Given the description of an element on the screen output the (x, y) to click on. 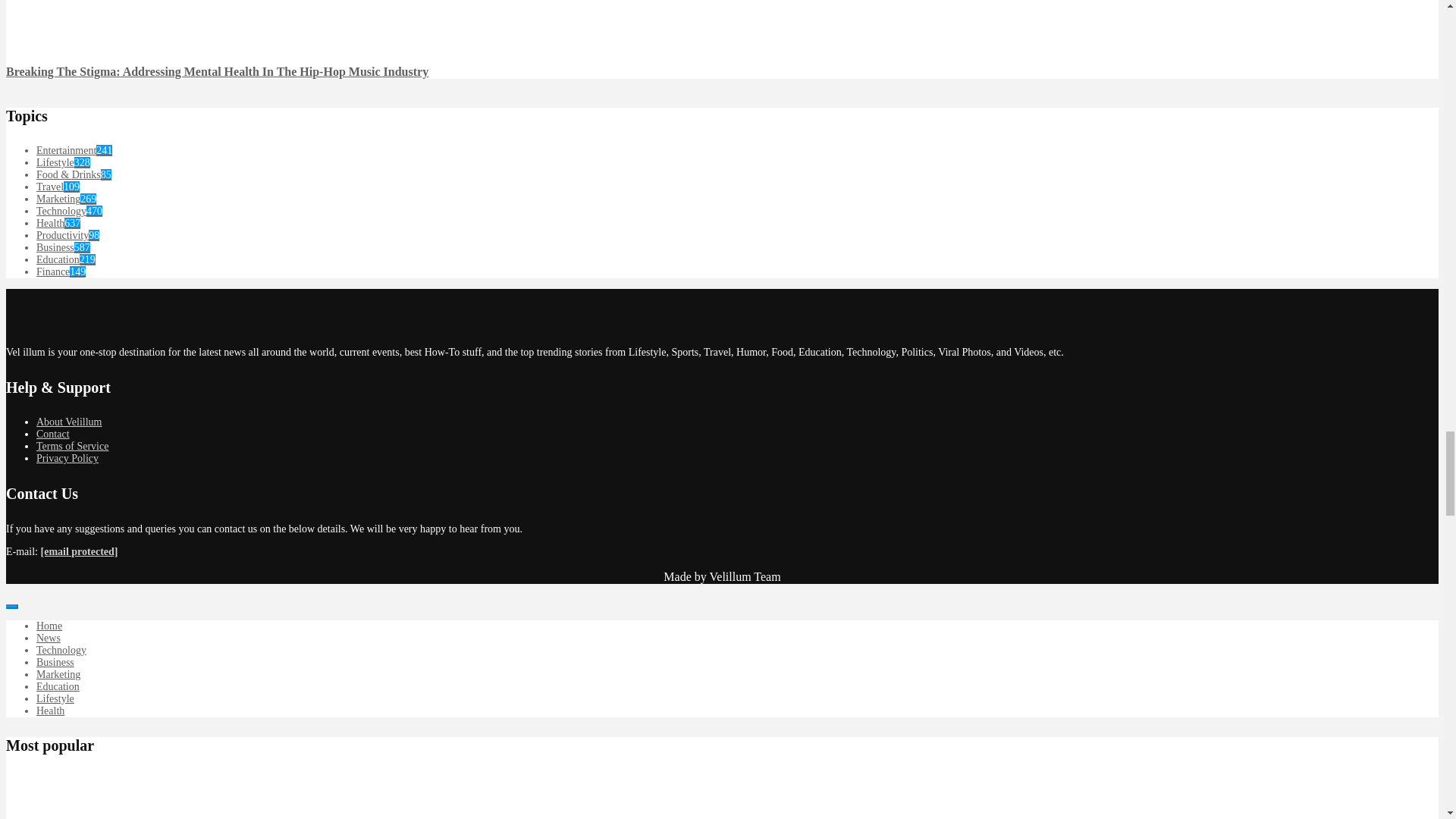
The Role of Design Patterns in Software Development (35, 815)
